Given the description of an element on the screen output the (x, y) to click on. 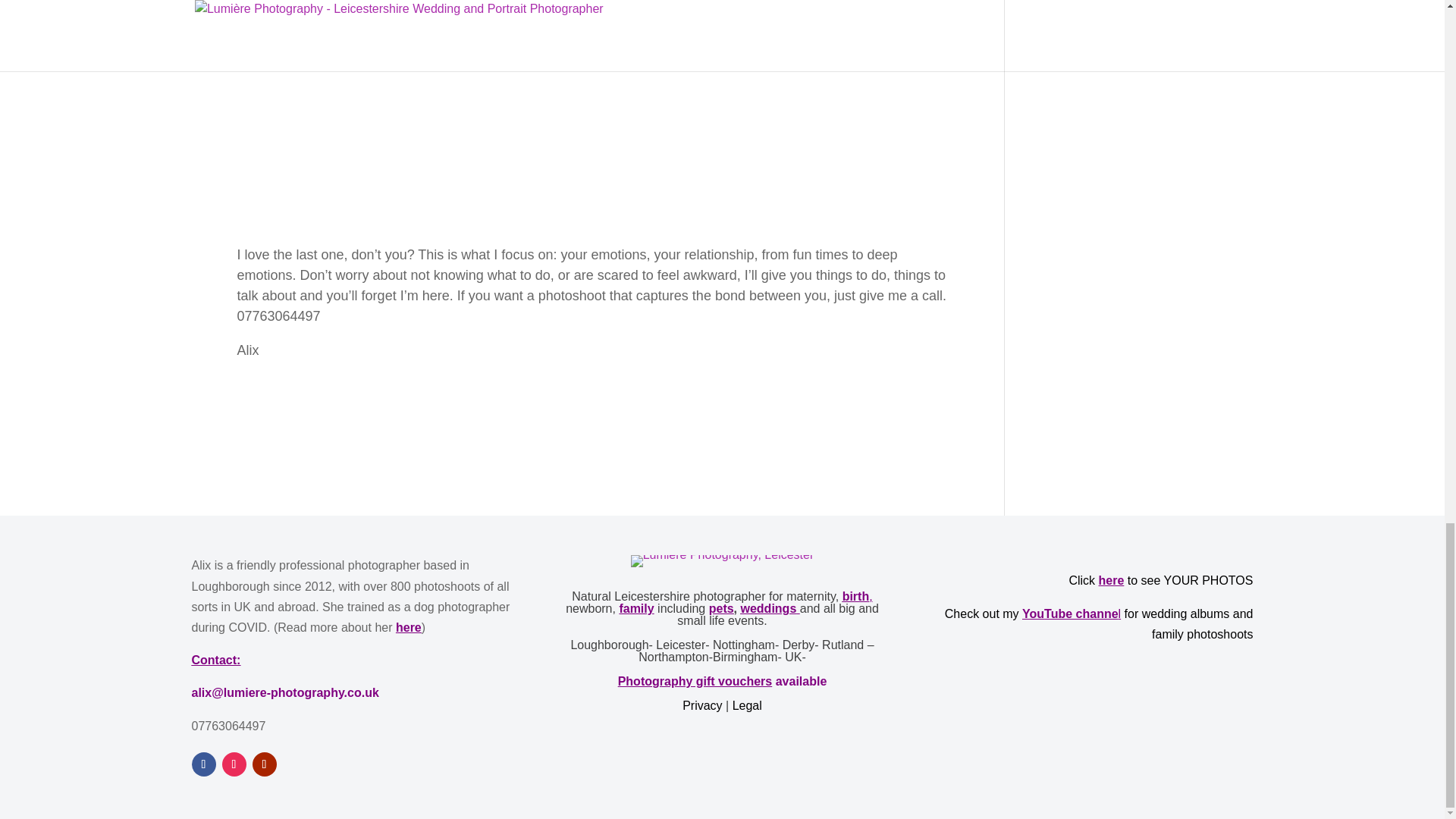
Lumiere Photography Logo (721, 561)
weddings (767, 608)
Click here to see YOUR PHOTOS (1160, 580)
Follow on Instagram (233, 764)
here (409, 626)
Contact: (215, 659)
pets (721, 608)
Photography gift vouchers available (722, 680)
Follow on Facebook (202, 764)
YouTube channel (1071, 613)
family (635, 608)
Legal (746, 705)
Privacy (703, 705)
birth (856, 595)
Follow on Youtube (263, 764)
